Given the description of an element on the screen output the (x, y) to click on. 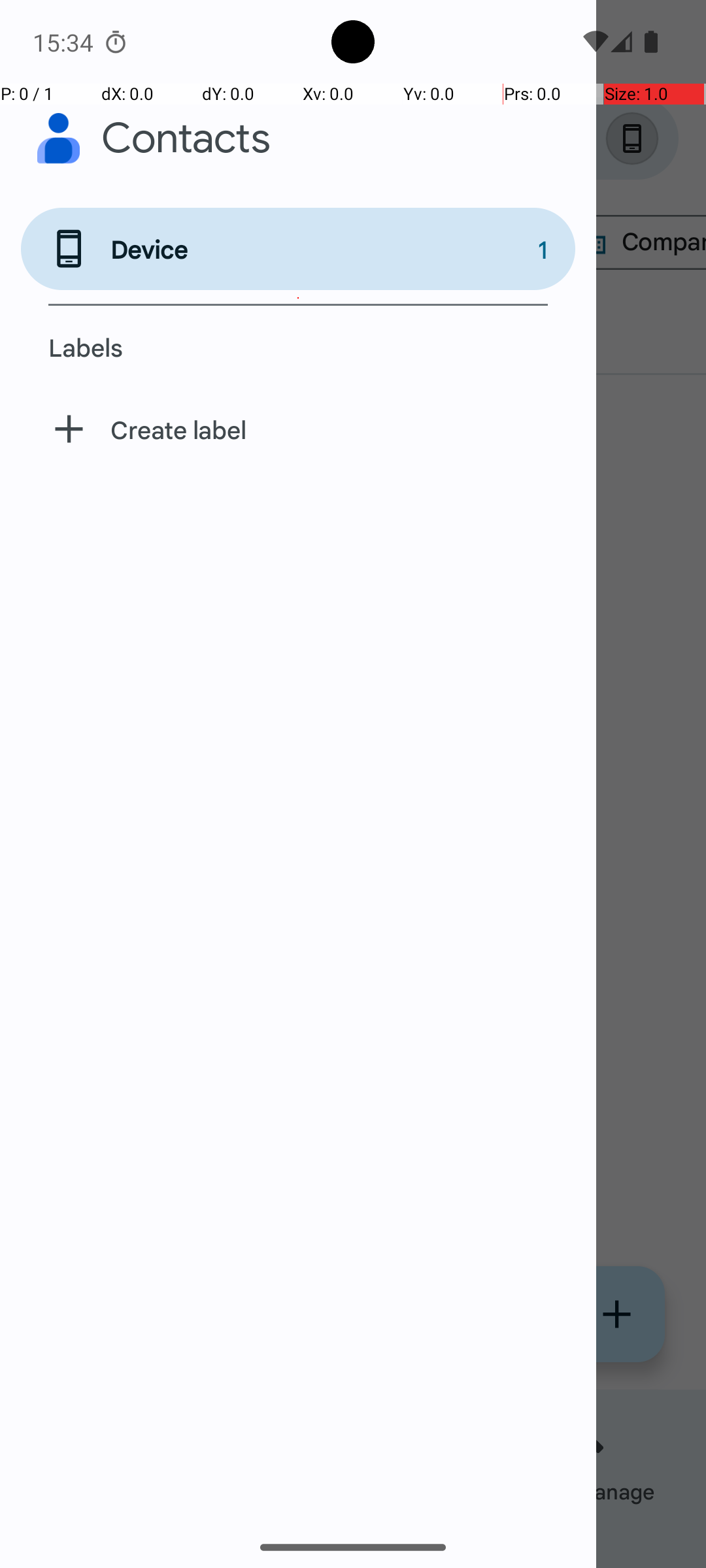
Labels Element type: android.widget.TextView (298, 346)
Create label Element type: android.widget.CheckedTextView (297, 429)
